Given the description of an element on the screen output the (x, y) to click on. 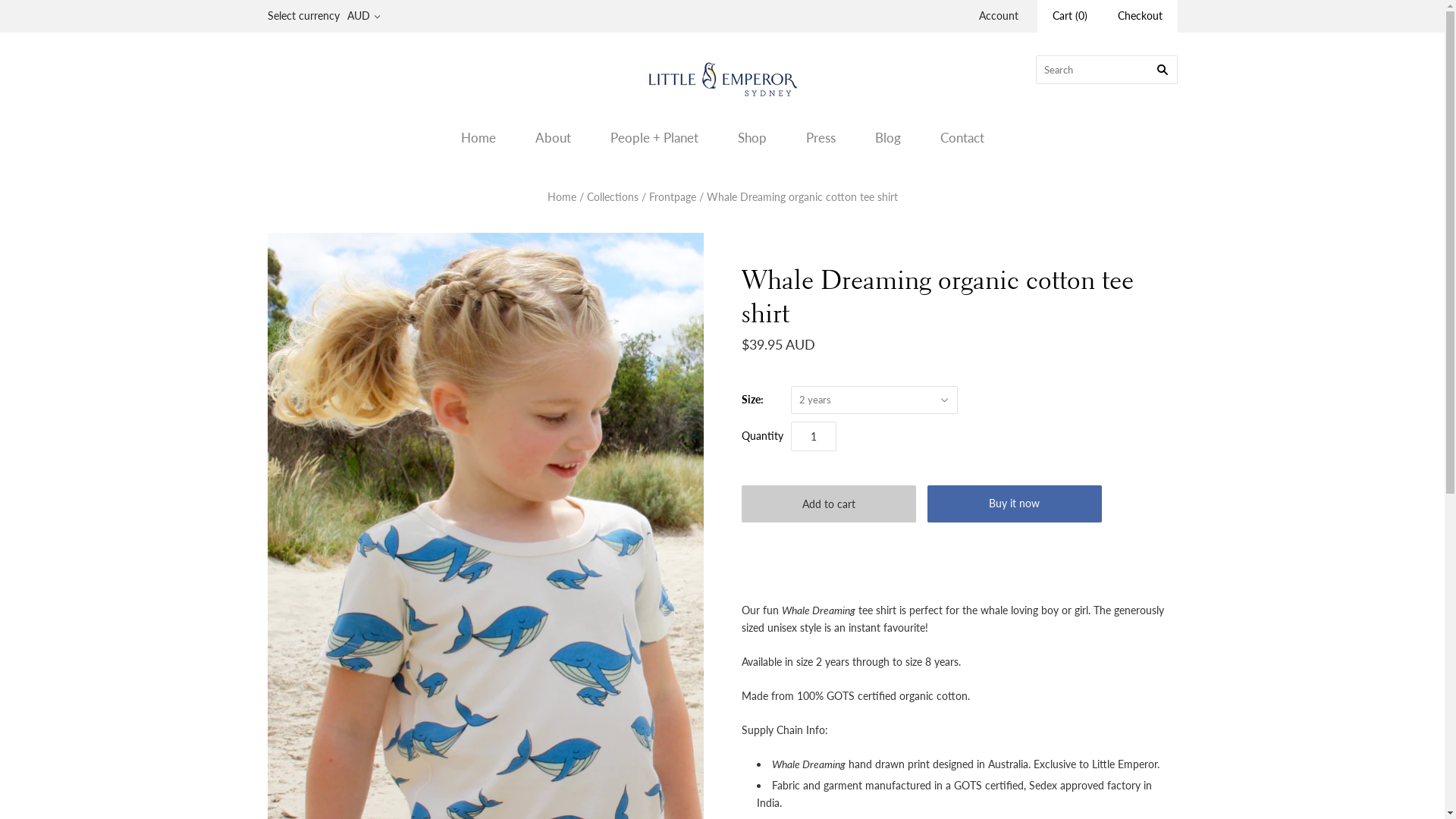
Account Element type: text (997, 15)
Shop Element type: text (751, 137)
Home Element type: text (561, 196)
People + Planet Element type: text (653, 137)
Cart (0) Element type: text (1069, 16)
Frontpage Element type: text (672, 196)
Press Element type: text (819, 137)
Contact Element type: text (962, 137)
Buy it now Element type: text (1013, 503)
Checkout Element type: text (1139, 16)
Home Element type: text (478, 137)
About Element type: text (552, 137)
Collections Element type: text (612, 196)
Add to cart Element type: text (828, 503)
Blog Element type: text (887, 137)
